Given the description of an element on the screen output the (x, y) to click on. 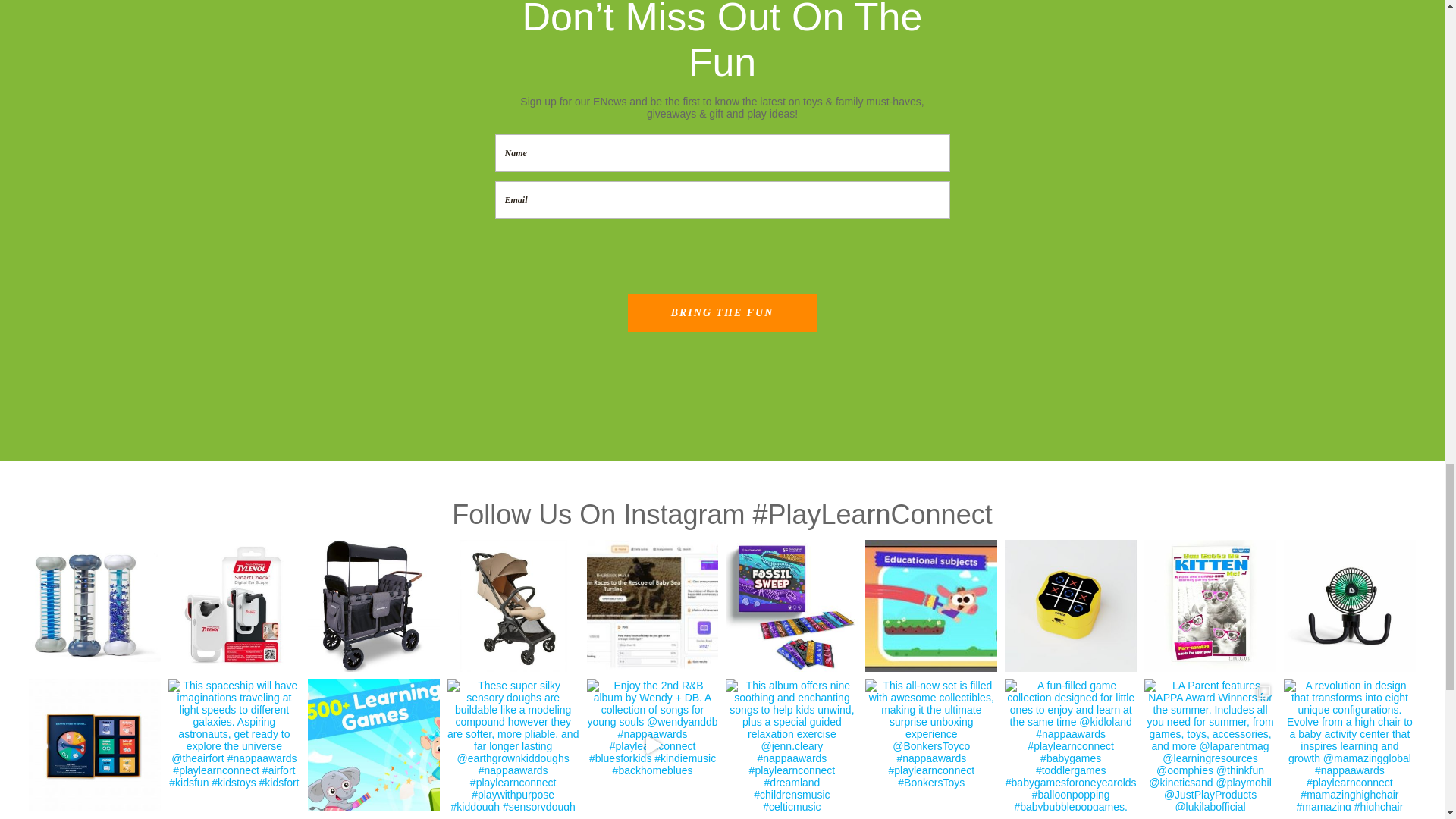
Bring The Fun (721, 313)
